Given the description of an element on the screen output the (x, y) to click on. 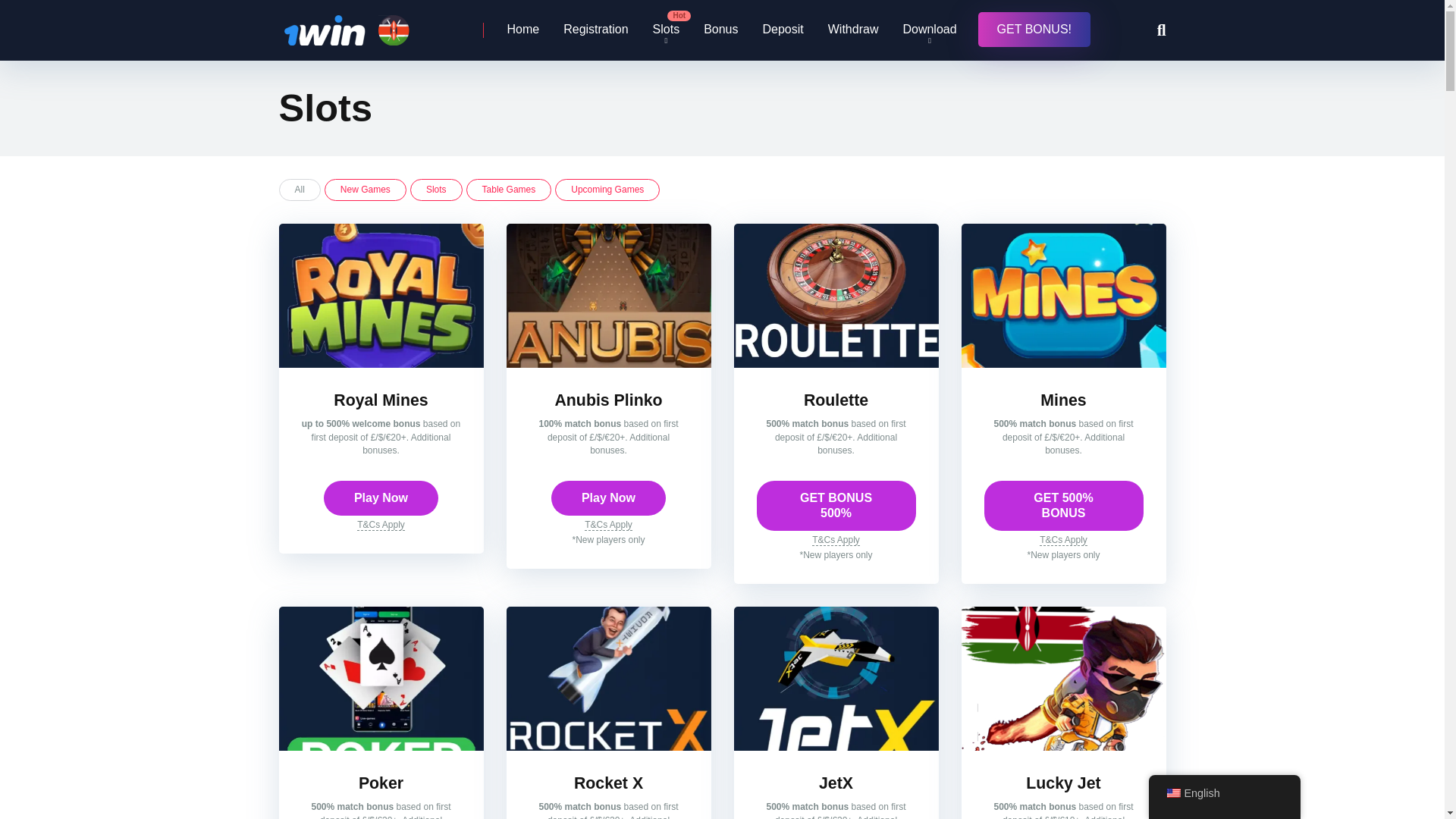
Registration (595, 30)
Play Now (608, 497)
Rocket X (608, 782)
Play Now (380, 497)
Home (523, 30)
Bonus (720, 30)
Royal Mines (381, 363)
Anubis Plinko (608, 400)
Slots (436, 189)
Anubis Plinko (608, 363)
Slots (666, 30)
Roulette (835, 400)
Anubis Plinko (608, 400)
Withdraw (853, 30)
Table Games (508, 189)
